Given the description of an element on the screen output the (x, y) to click on. 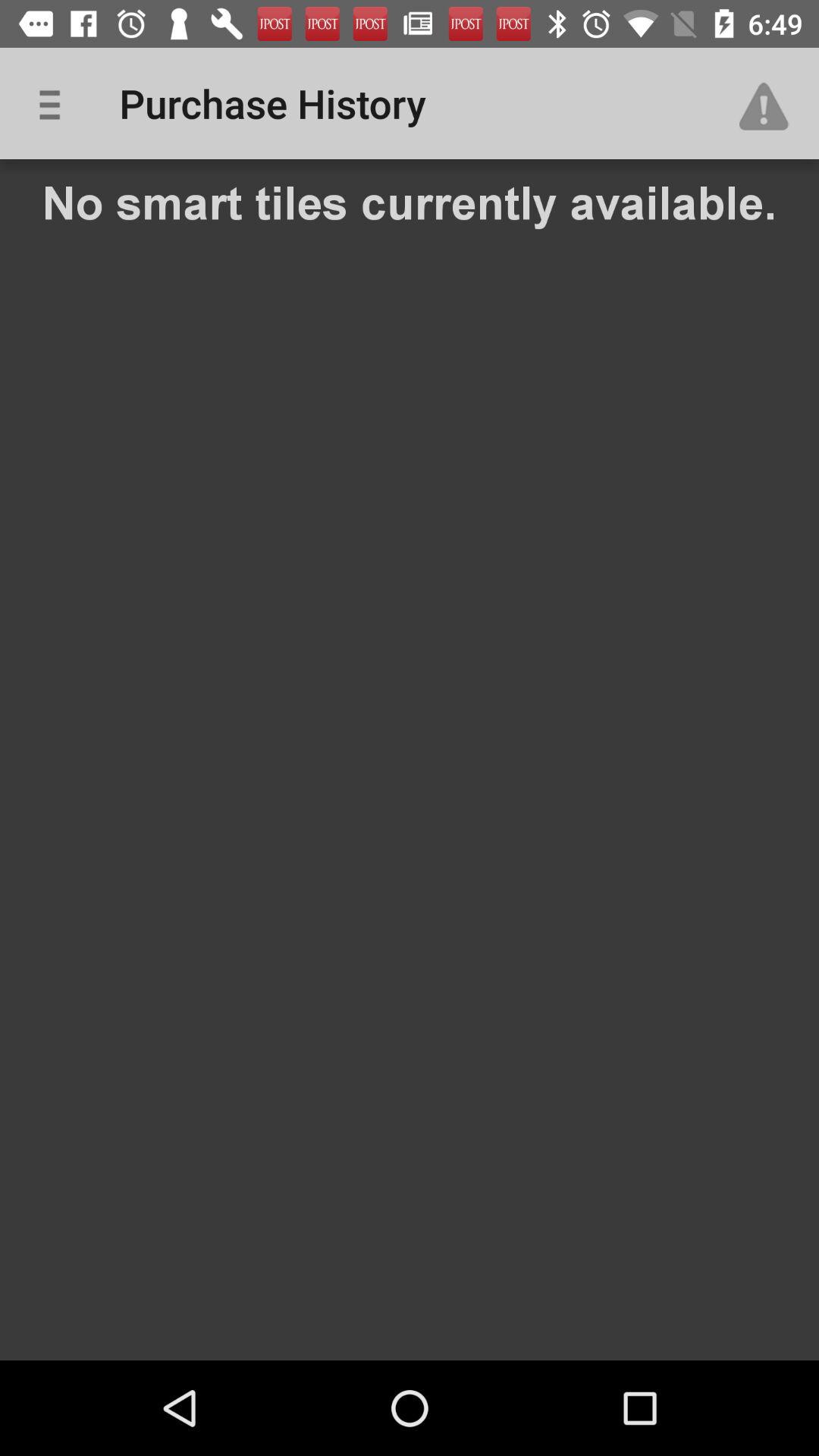
select app to the right of the purchase history icon (771, 103)
